Given the description of an element on the screen output the (x, y) to click on. 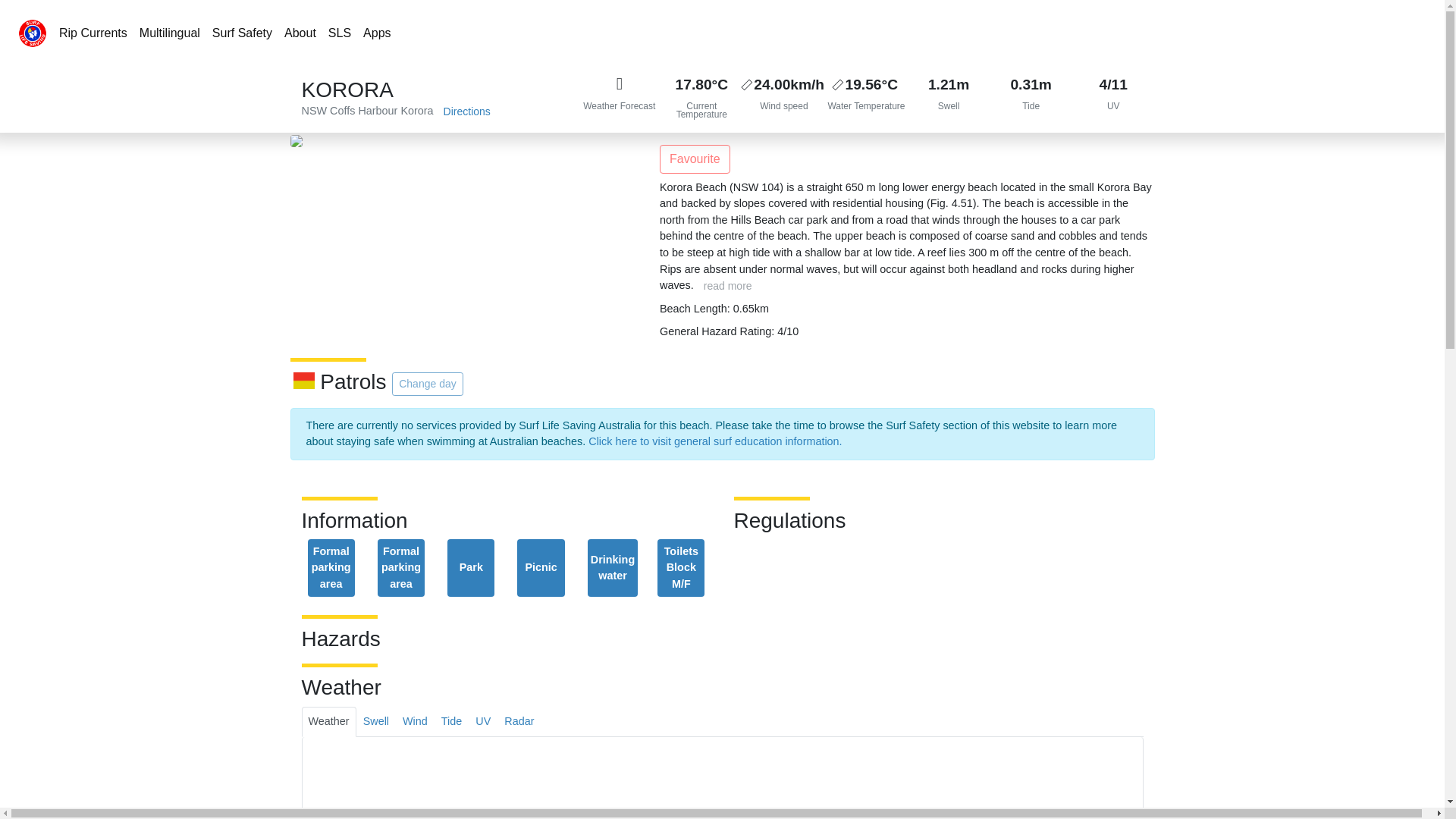
Click here to visit general surf education information. (714, 440)
UV (482, 721)
Change day (427, 383)
Surf Safety (242, 33)
Tide (1030, 96)
UV (1112, 96)
Show me direction to this beach (466, 111)
Rip Currents (92, 33)
Water Temperature (866, 96)
Radar (518, 721)
Tide (450, 721)
Korora (416, 110)
Coffs Harbour (363, 110)
Multilingual (169, 33)
About (299, 33)
